Given the description of an element on the screen output the (x, y) to click on. 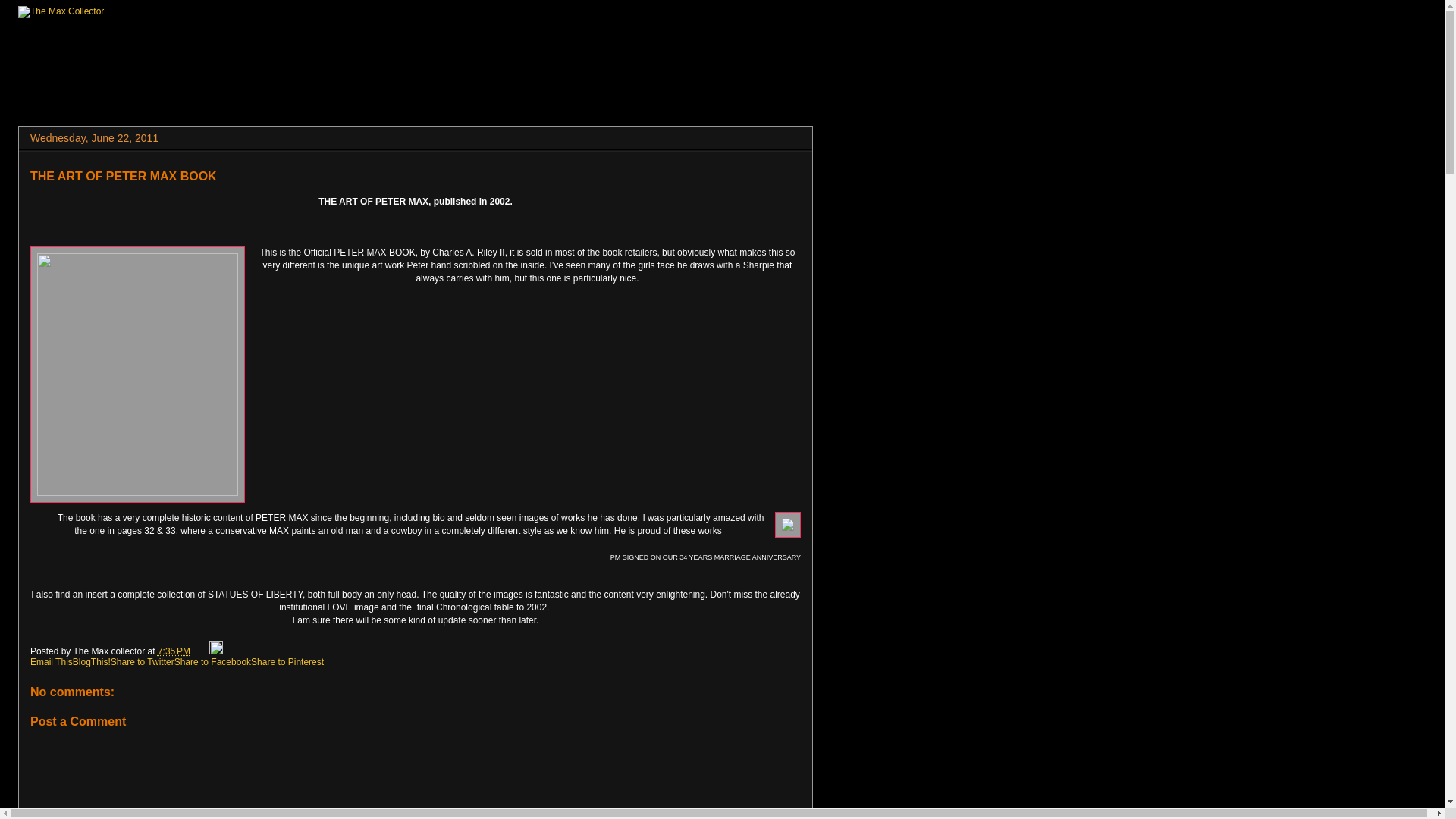
Share to Facebook (212, 661)
Share to Pinterest (286, 661)
Email This (51, 661)
BlogThis! (91, 661)
Email Post (200, 651)
Email This (51, 661)
Edit Post (215, 651)
Share to Pinterest (286, 661)
Share to Facebook (212, 661)
Share to Twitter (142, 661)
Share to Twitter (142, 661)
BlogThis! (91, 661)
permanent link (173, 651)
